Given the description of an element on the screen output the (x, y) to click on. 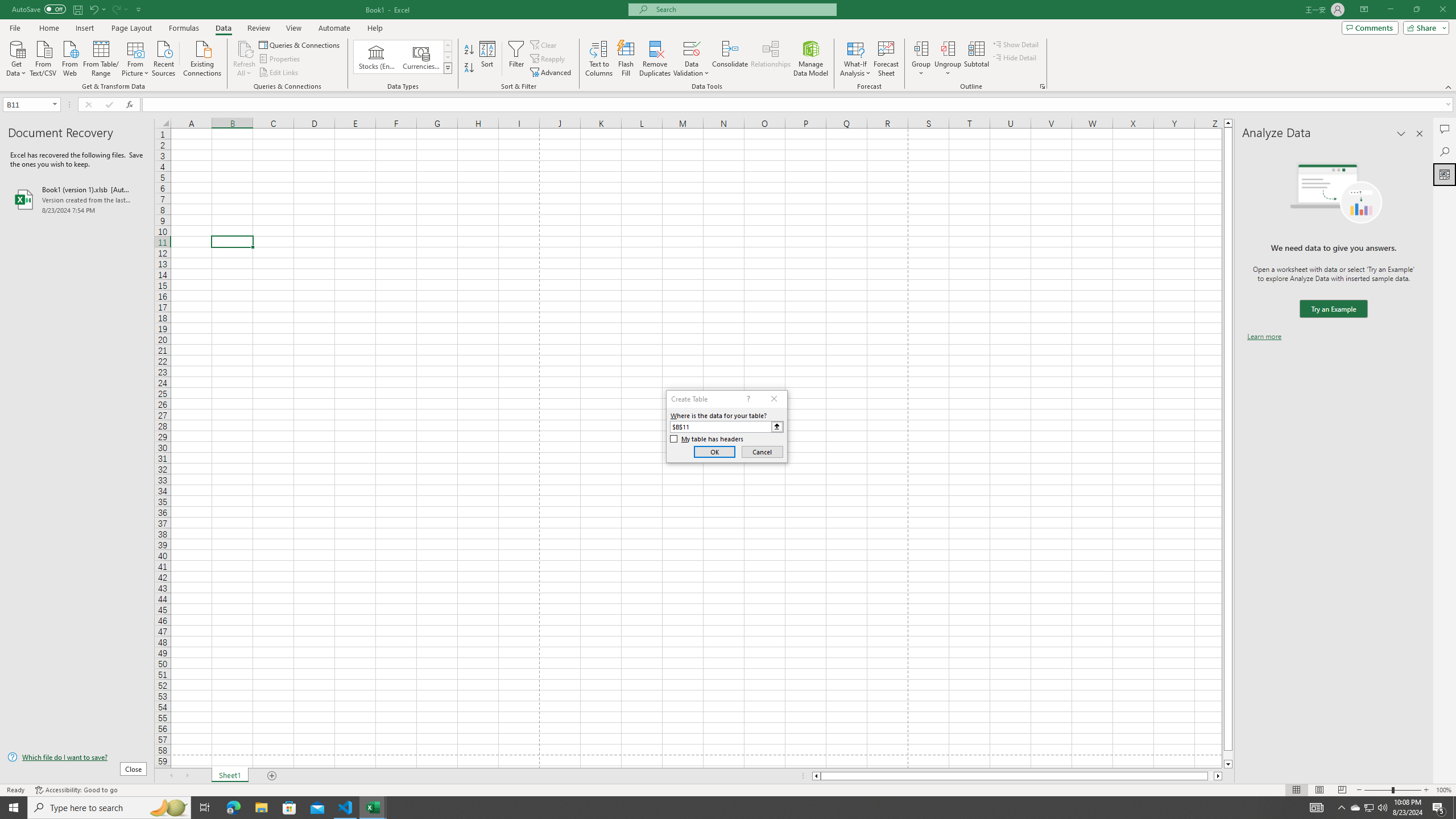
Remove Duplicates (654, 58)
Subtotal (976, 58)
We need data to give you answers. Try an Example (1333, 308)
Text to Columns... (598, 58)
Flash Fill (625, 58)
Group and Outline Settings (1042, 85)
